Given the description of an element on the screen output the (x, y) to click on. 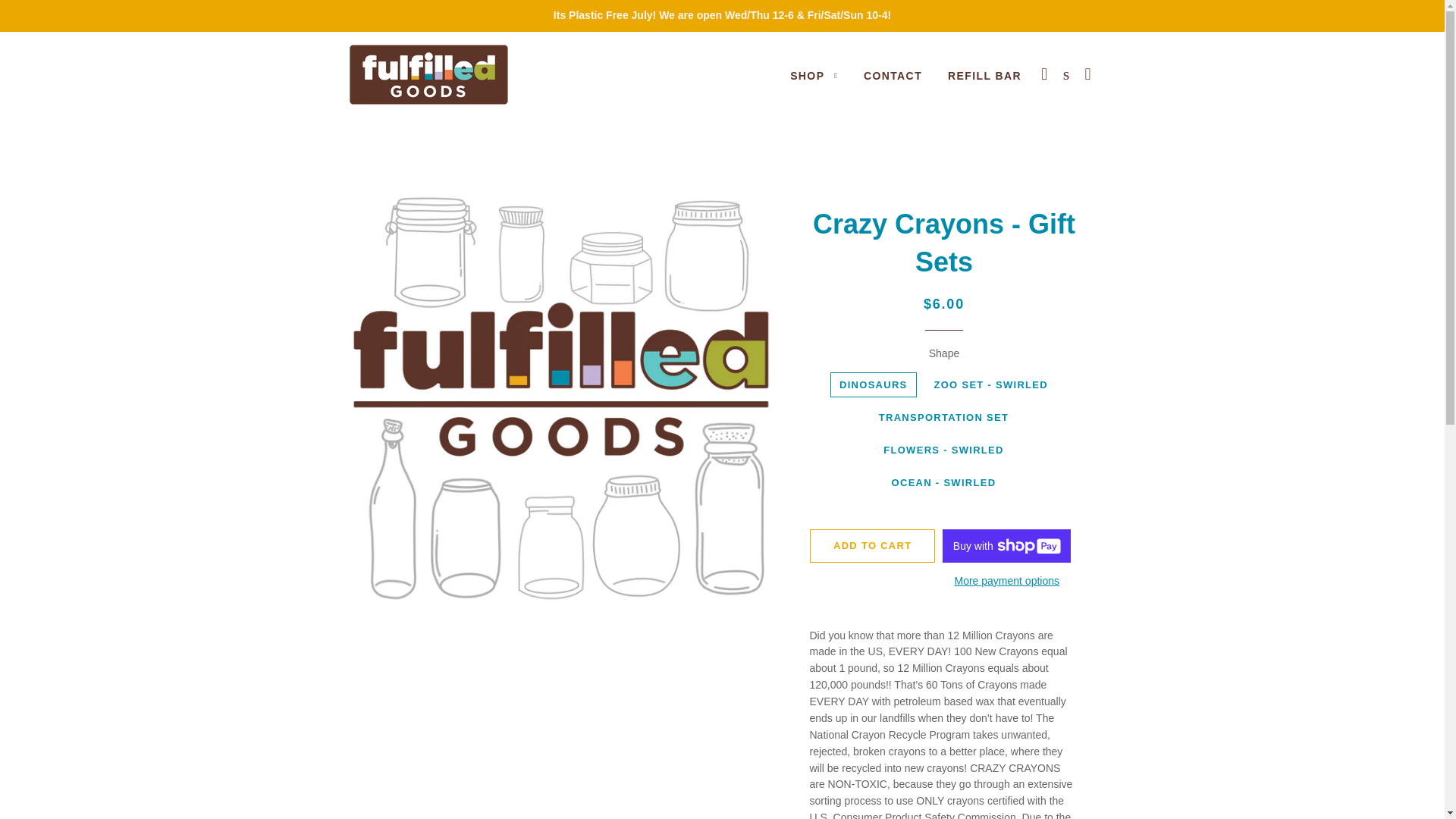
SHOP (813, 76)
